Given the description of an element on the screen output the (x, y) to click on. 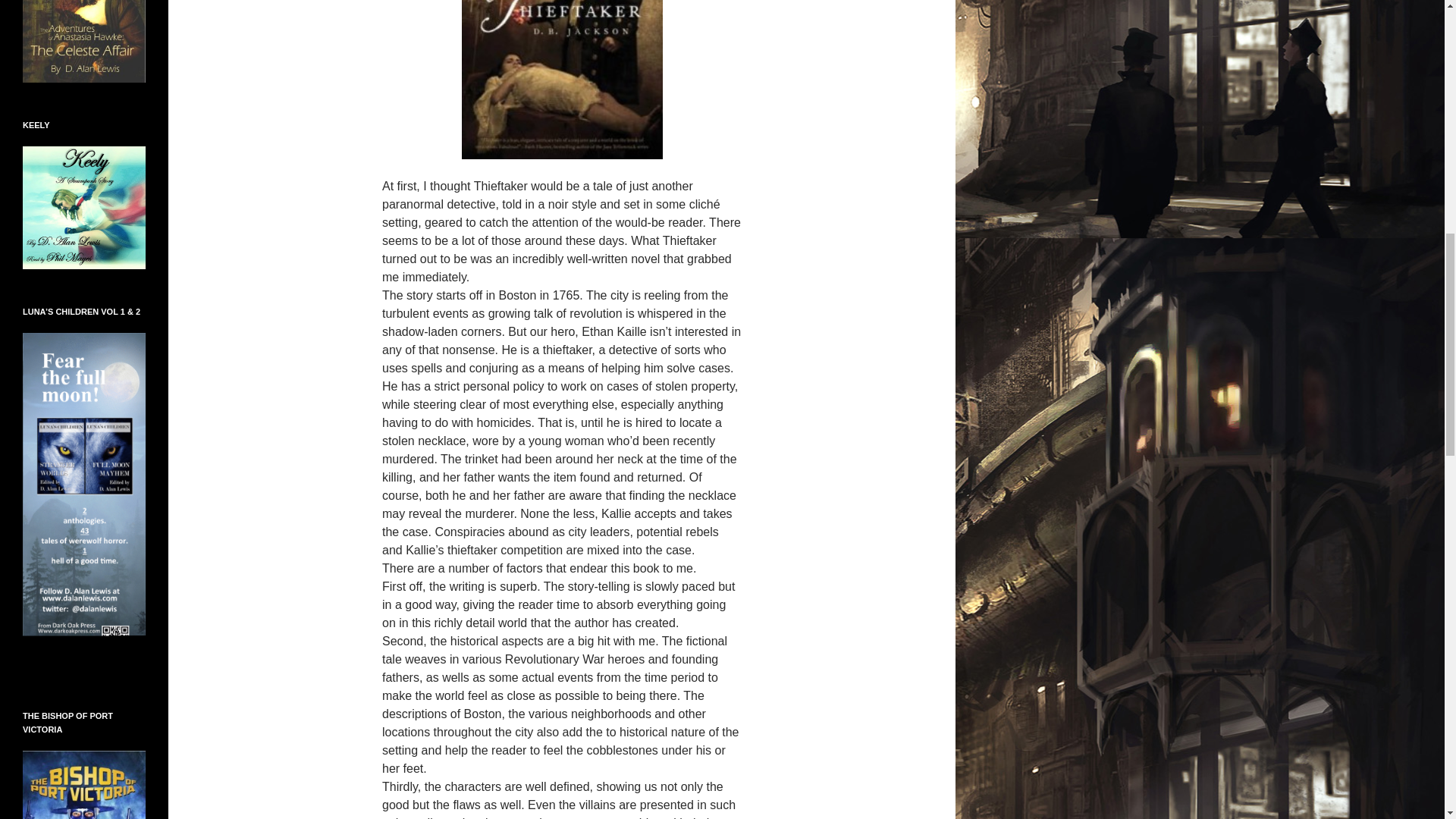
Keely  (84, 206)
The Celeste Affair (84, 3)
